Given the description of an element on the screen output the (x, y) to click on. 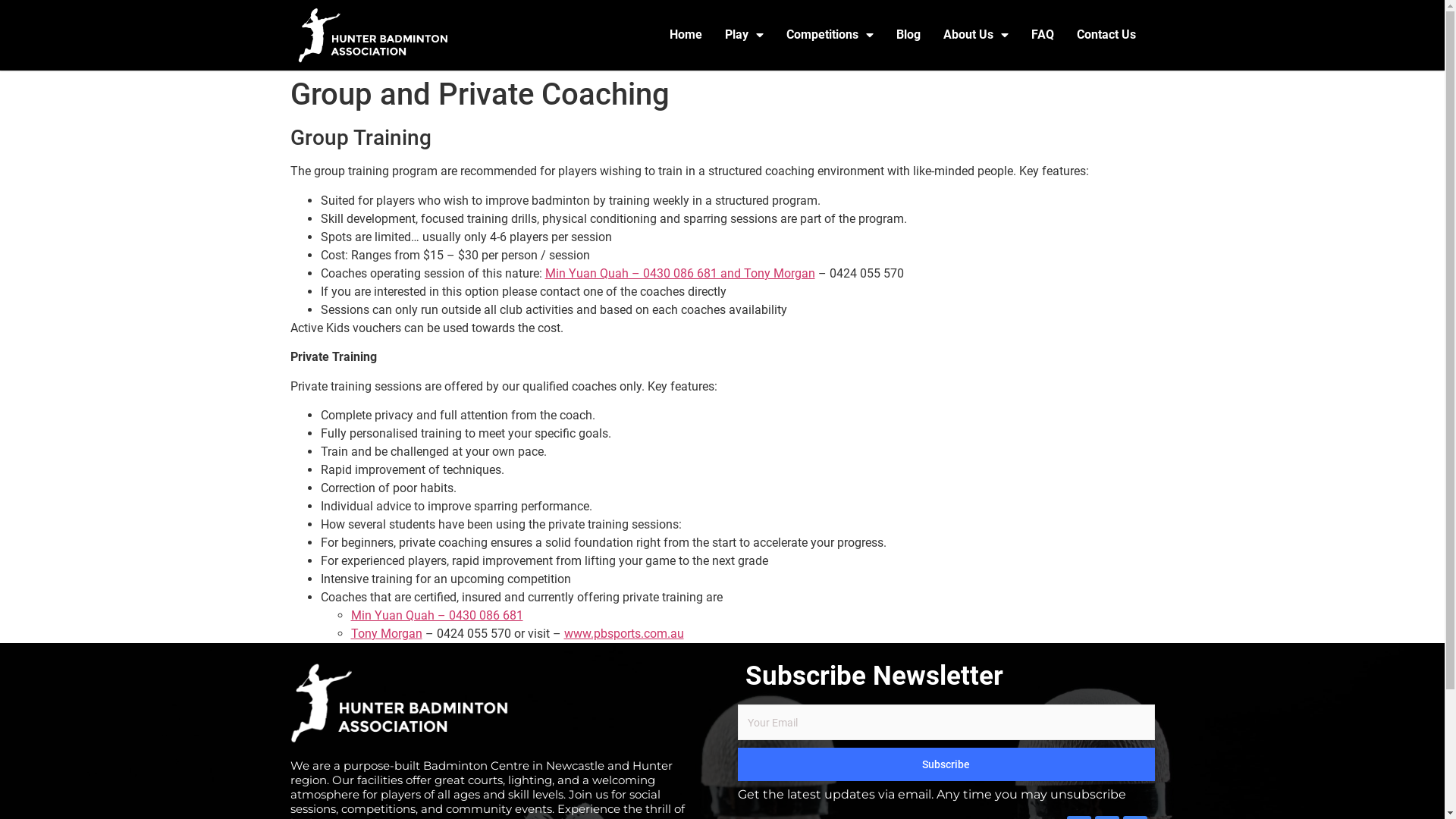
FAQ Element type: text (1041, 34)
Play Element type: text (743, 34)
www.pbsports.com.au Element type: text (624, 633)
Subscribe Element type: text (945, 764)
Blog Element type: text (907, 34)
Contact Us Element type: text (1105, 34)
Tony Morgan Element type: text (385, 633)
About Us Element type: text (975, 34)
Competitions Element type: text (829, 34)
Home Element type: text (685, 34)
